Given the description of an element on the screen output the (x, y) to click on. 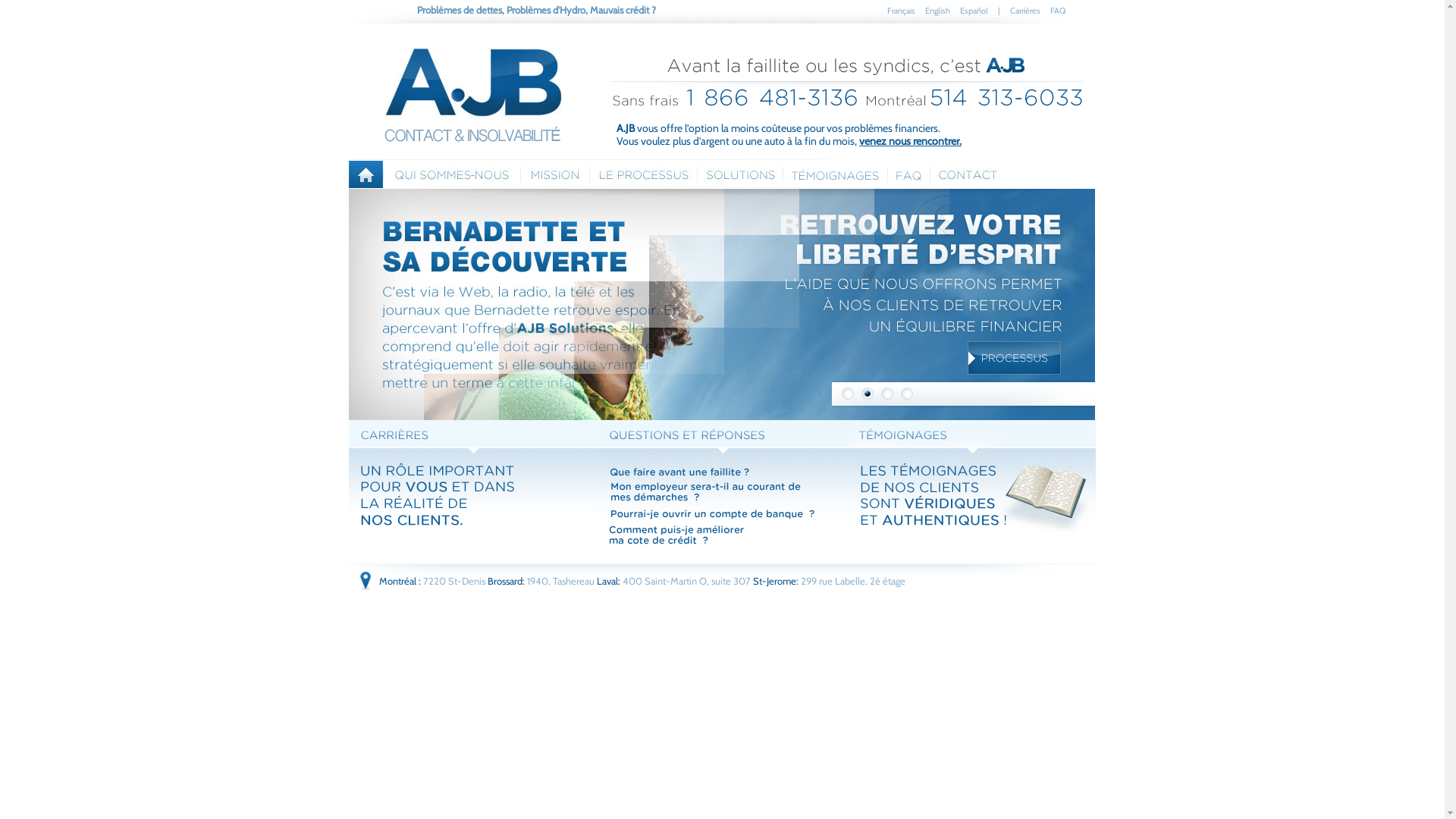
Laval: 400 Saint-Martin O, suite 307 Element type: text (673, 580)
Le processus Element type: text (642, 174)
Mission Element type: text (554, 174)
Solutions Element type: text (739, 174)
Accueil Element type: text (365, 174)
FAQ Element type: text (908, 174)
4 Element type: text (906, 393)
3 Element type: text (887, 393)
1 Element type: text (847, 393)
venez nous rencontrer. Element type: text (910, 140)
Qui sommes nous Element type: text (451, 174)
English Element type: text (937, 10)
Contact Element type: text (967, 174)
| Element type: text (998, 10)
2 Element type: text (867, 393)
Brossard: 1940, Tashereau Element type: text (541, 580)
FAQ Element type: text (1057, 10)
